Given the description of an element on the screen output the (x, y) to click on. 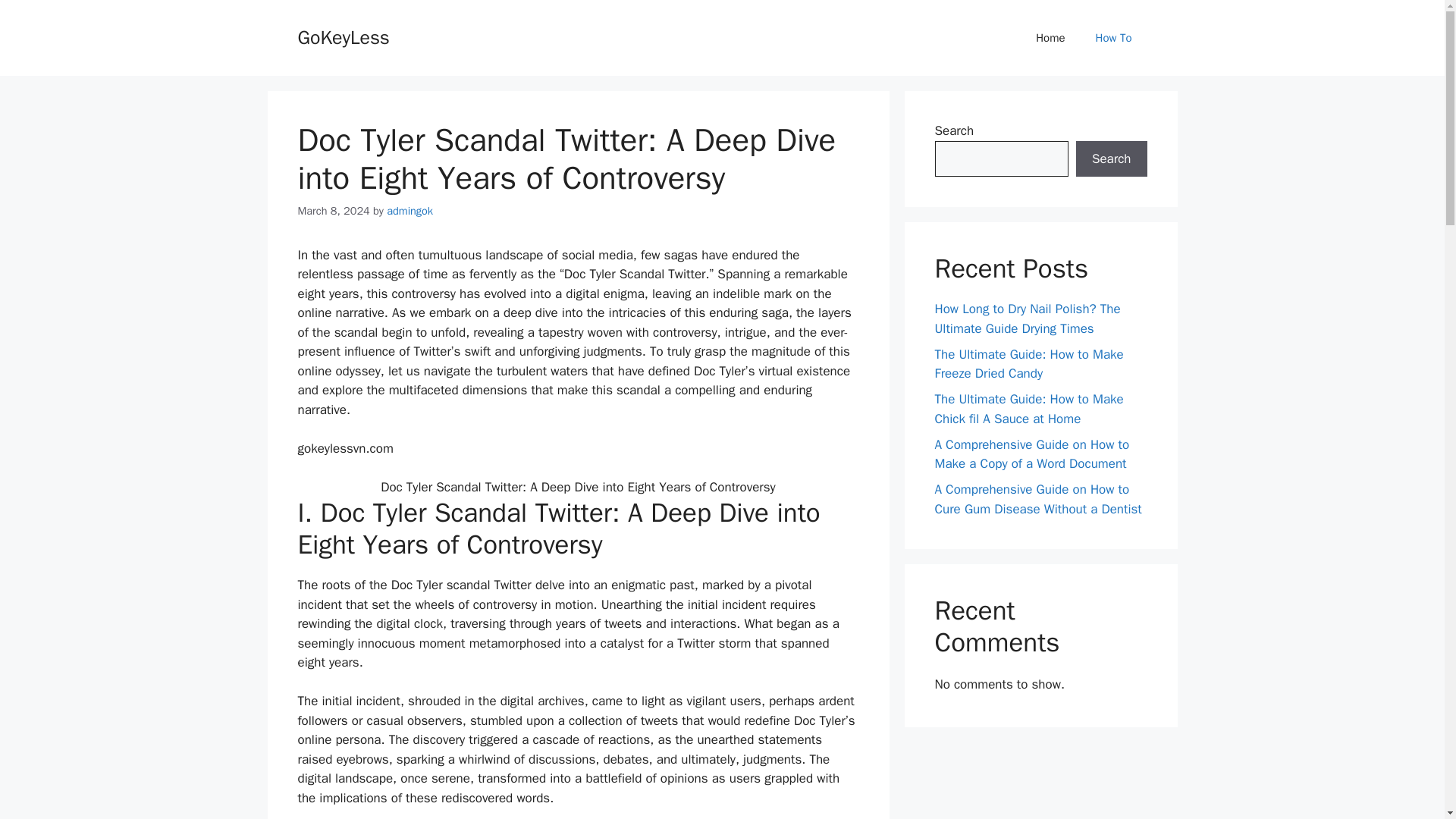
How To (1113, 37)
GoKeyLess (342, 37)
The Ultimate Guide: How to Make Freeze Dried Candy (1028, 363)
Home (1050, 37)
View all posts by admingok (409, 210)
admingok (409, 210)
Search (1111, 158)
How Long to Dry Nail Polish? The Ultimate Guide Drying Times (1026, 318)
The Ultimate Guide: How to Make Chick fil A Sauce at Home (1028, 408)
